Given the description of an element on the screen output the (x, y) to click on. 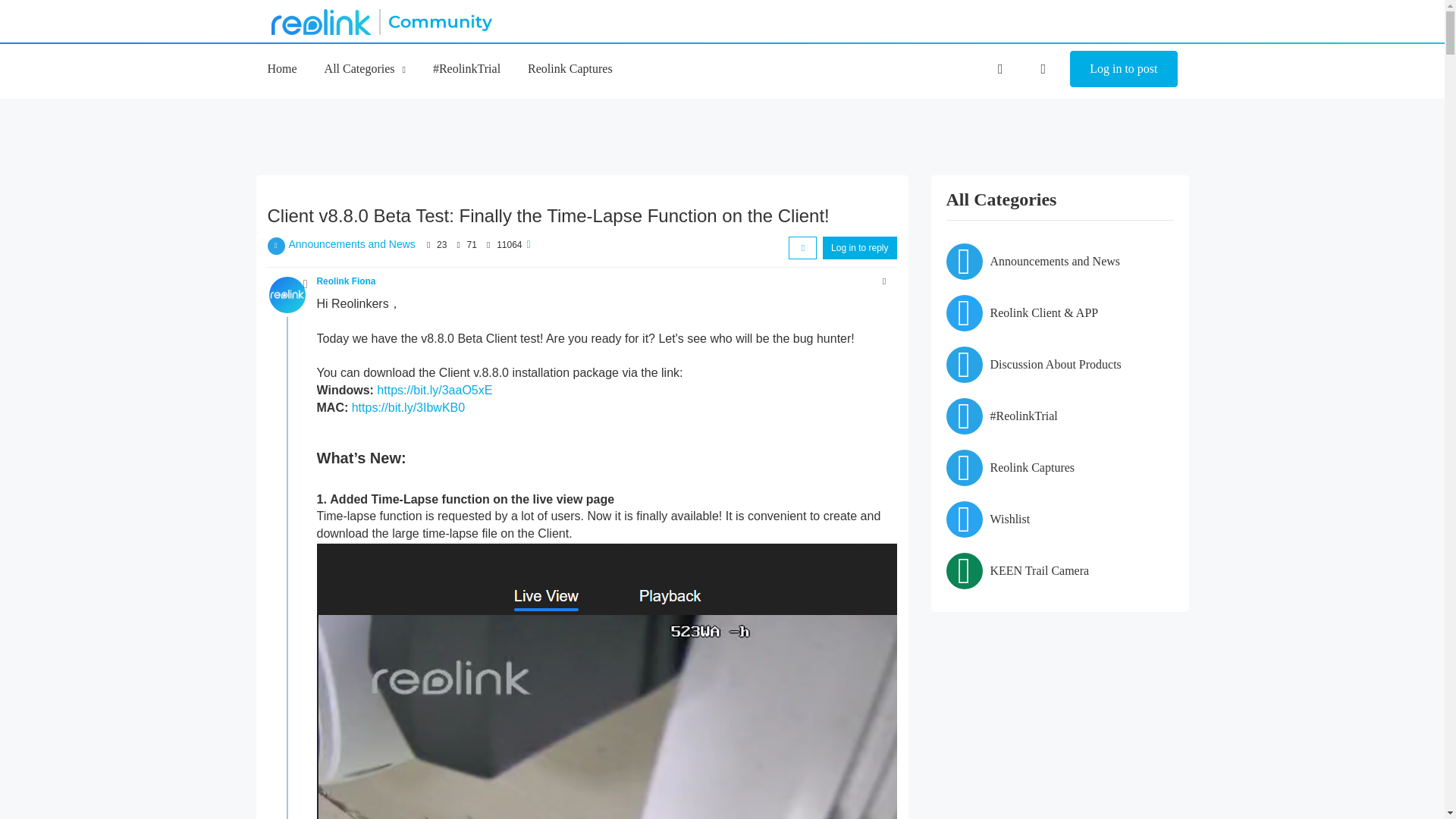
Views (489, 244)
Log in to reply (859, 247)
Reolink Captures (569, 68)
71 (472, 244)
All Categories (365, 68)
Reolink Fiona (346, 281)
Posts (458, 244)
Home (281, 68)
11064 (508, 244)
Log in to post (1123, 68)
Announcements and News (351, 244)
23 (441, 244)
Reolink Fiona (285, 294)
Sort by (802, 247)
Posters (428, 244)
